Given the description of an element on the screen output the (x, y) to click on. 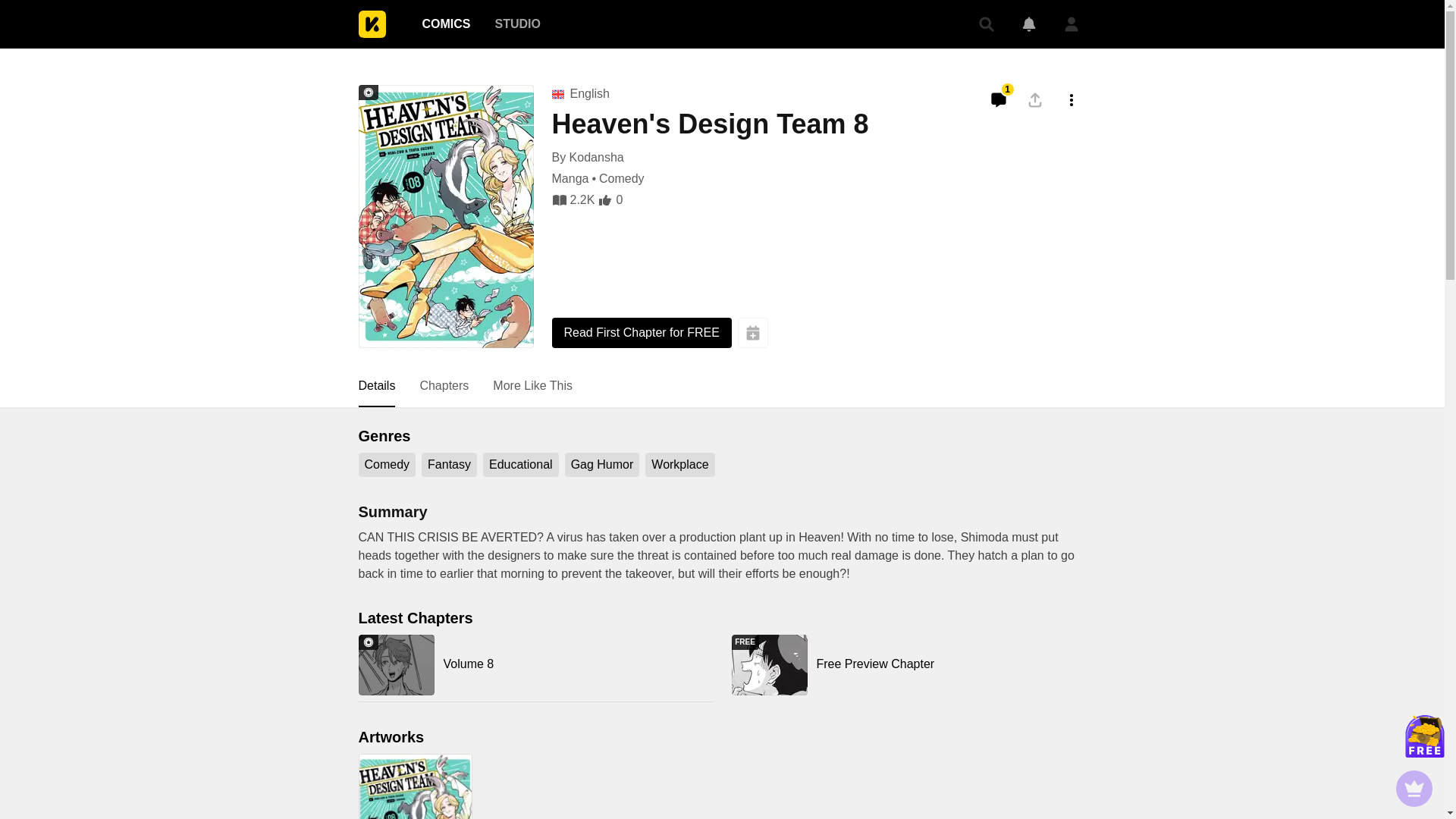
Fantasy (449, 464)
Comedy (386, 464)
Manga (570, 178)
Volume 8 (535, 664)
Comedy (621, 178)
More Like This (532, 386)
Chapters (443, 386)
STUDIO (908, 664)
Volume 8 (516, 24)
